Given the description of an element on the screen output the (x, y) to click on. 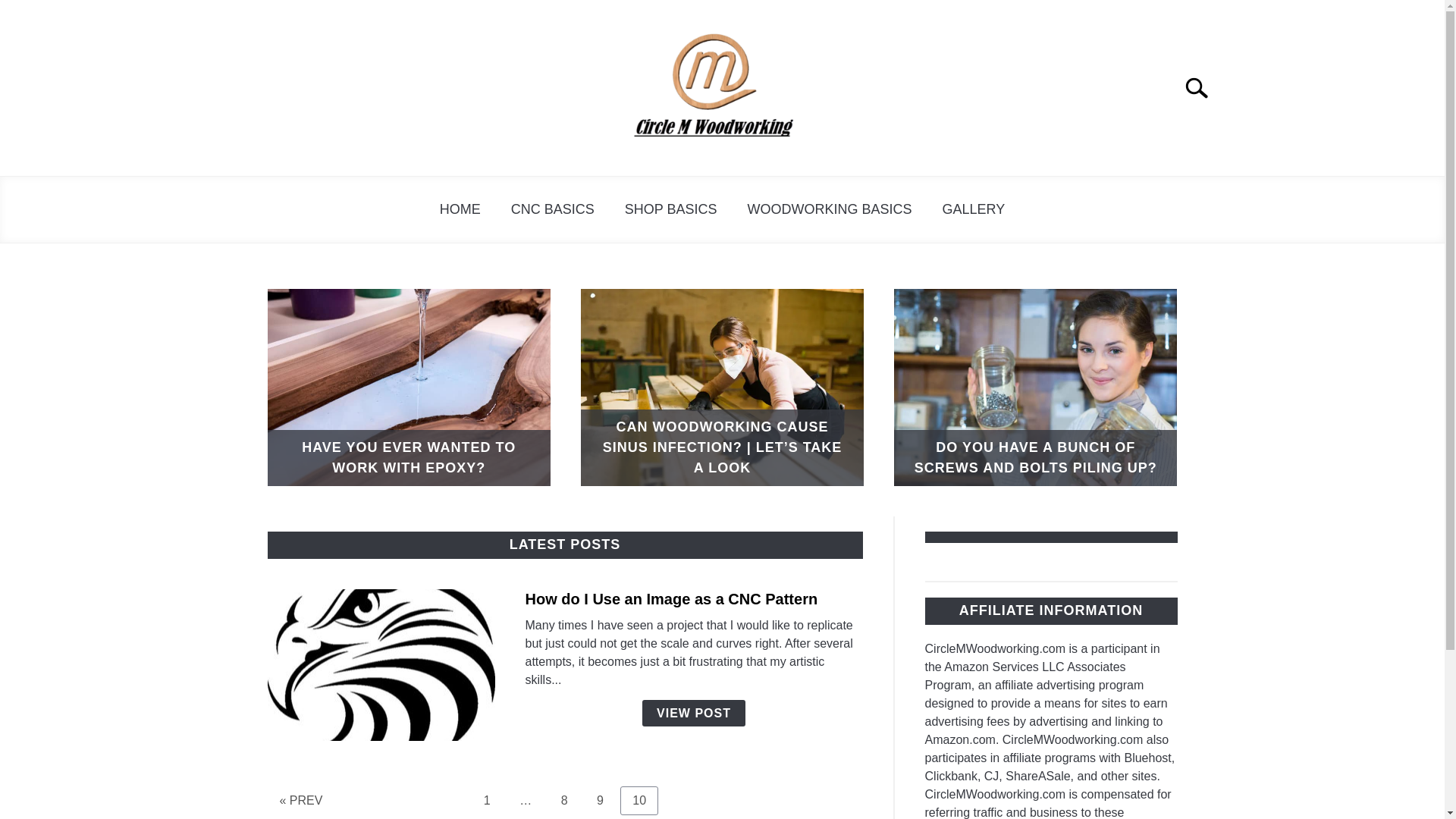
CNC BASICS (563, 800)
GALLERY (600, 800)
SHOP BASICS (553, 209)
DO YOU HAVE A BUNCH OF SCREWS AND BOLTS PILING UP? (486, 800)
WOODWORKING BASICS (973, 209)
Search (671, 209)
HOME (1034, 387)
